Given the description of an element on the screen output the (x, y) to click on. 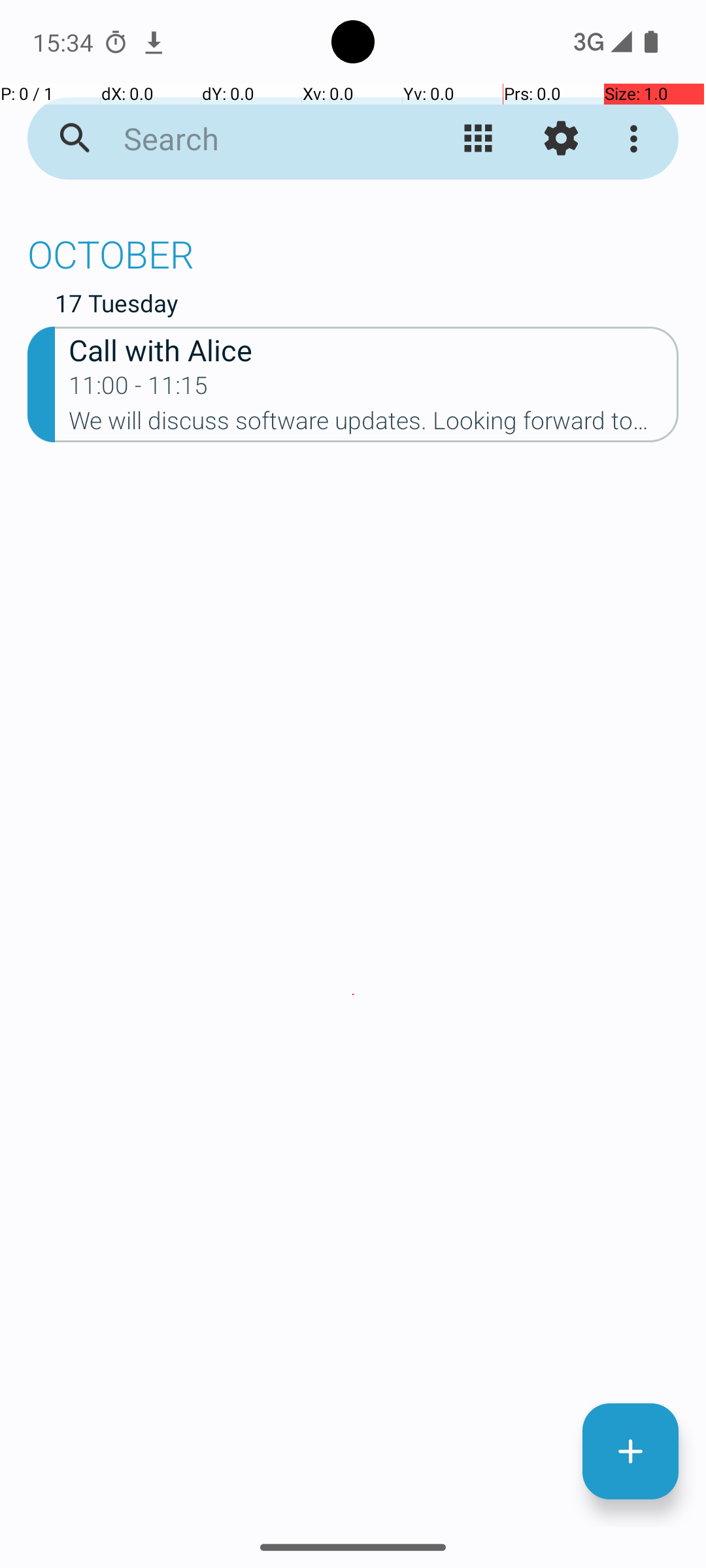
11:00 - 11:15 Element type: android.widget.TextView (137, 389)
We will discuss software updates. Looking forward to productive discussions. Element type: android.widget.TextView (373, 424)
